Given the description of an element on the screen output the (x, y) to click on. 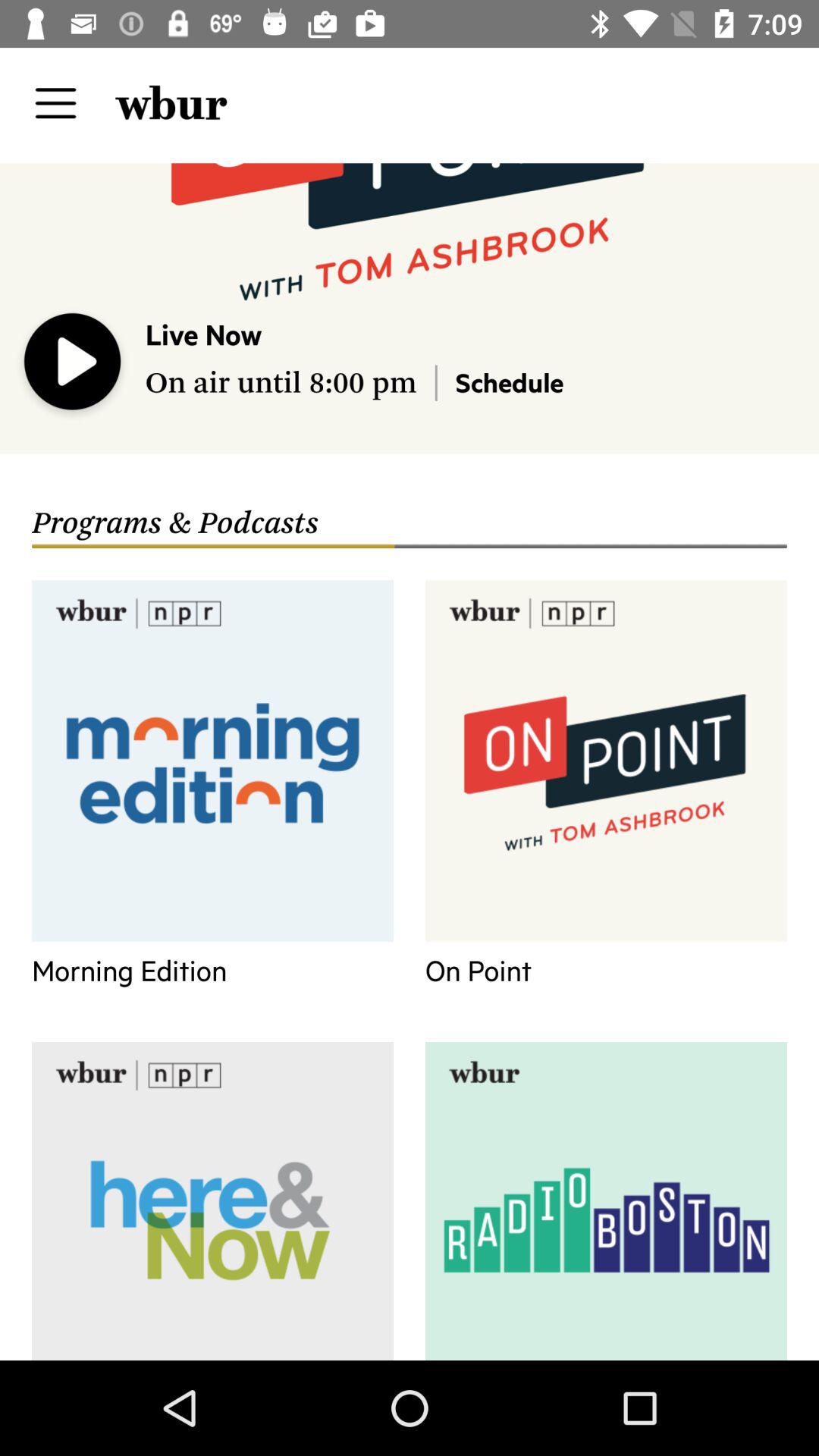
open schedule (509, 381)
